Given the description of an element on the screen output the (x, y) to click on. 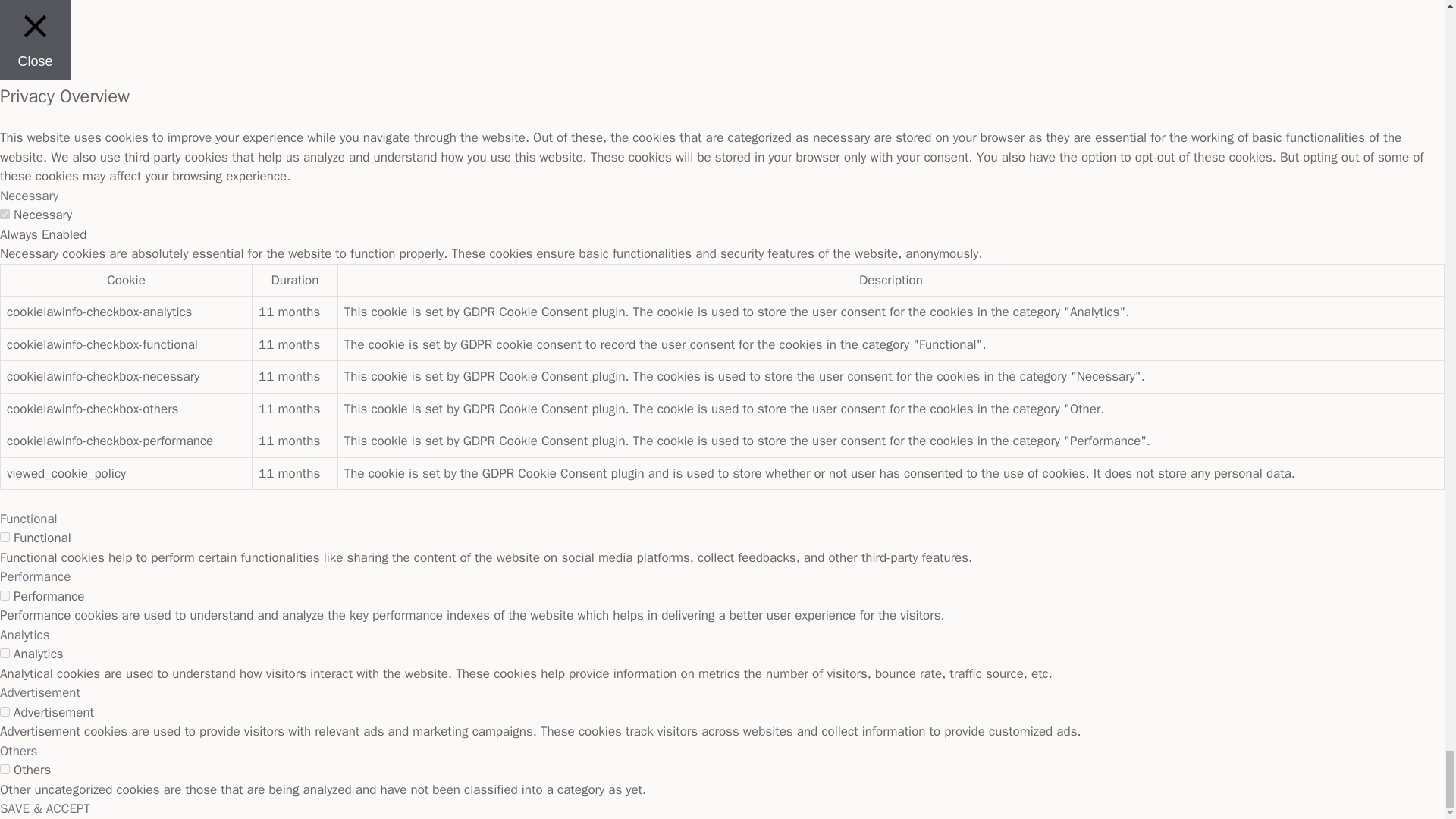
on (5, 711)
on (5, 768)
on (5, 595)
on (5, 214)
on (5, 537)
on (5, 653)
